Given the description of an element on the screen output the (x, y) to click on. 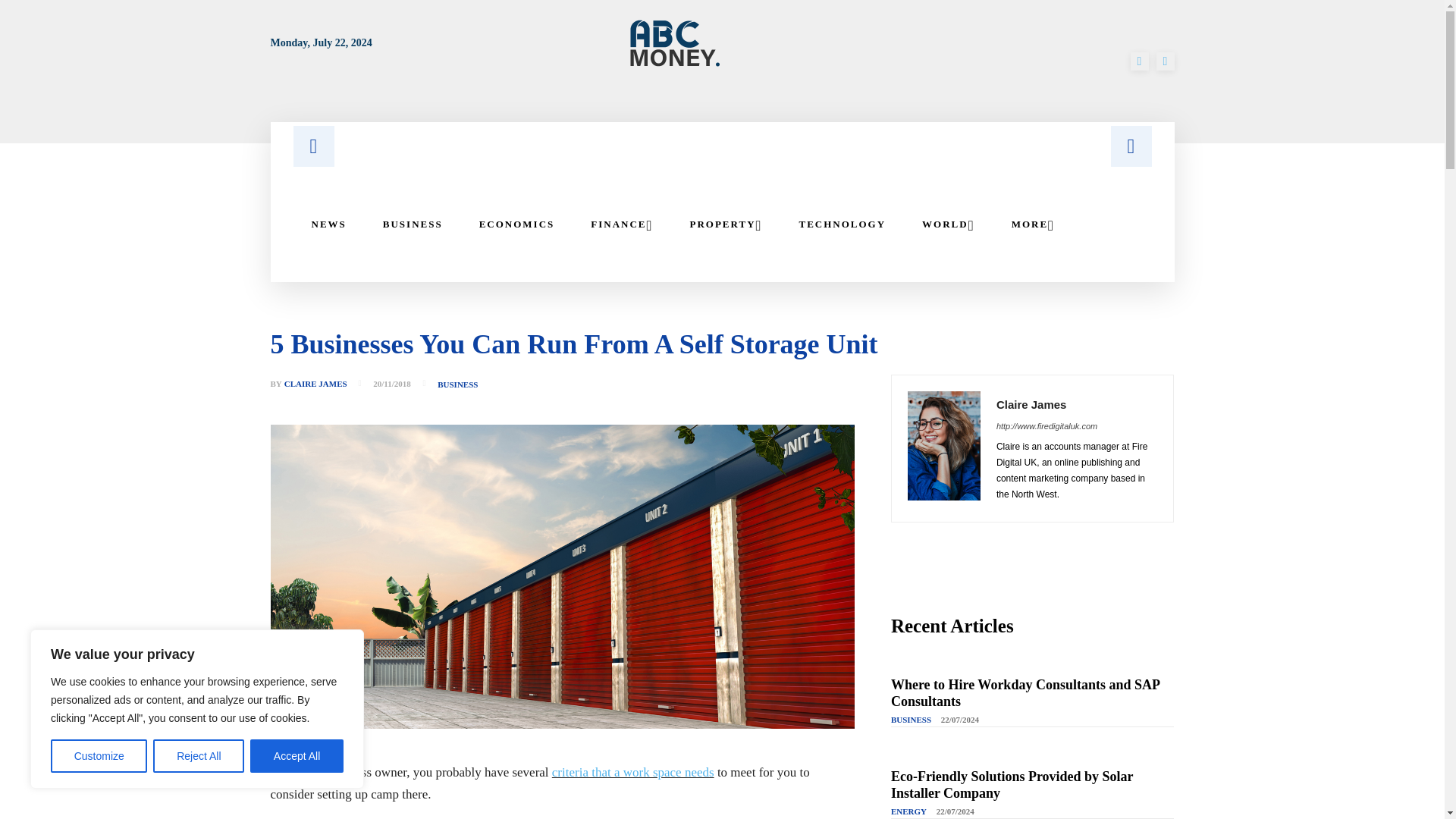
Where to Hire Workday Consultants and SAP Consultants (1024, 693)
Facebook (1138, 60)
Twitter (1164, 60)
BUSINESS (413, 224)
Accept All (296, 756)
Reject All (198, 756)
Customize (98, 756)
Eco-Friendly Solutions Provided by Solar Installer Company (1011, 784)
NEWS (328, 224)
ECONOMICS (517, 224)
FINANCE (621, 224)
PROPERTY (725, 224)
